Given the description of an element on the screen output the (x, y) to click on. 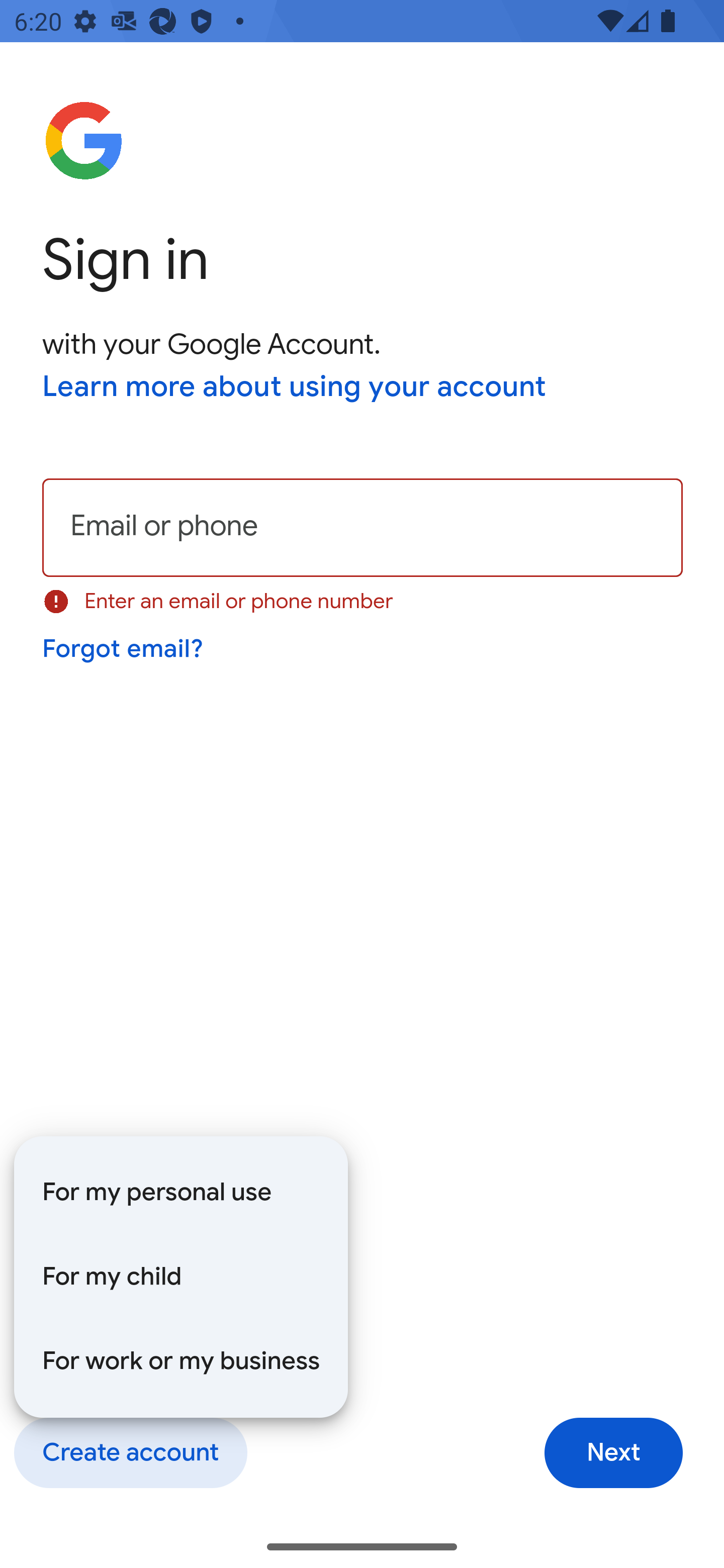
Learn more about using your account (294, 388)
Forgot email? (123, 648)
Create account (129, 1453)
Next (613, 1453)
